Given the description of an element on the screen output the (x, y) to click on. 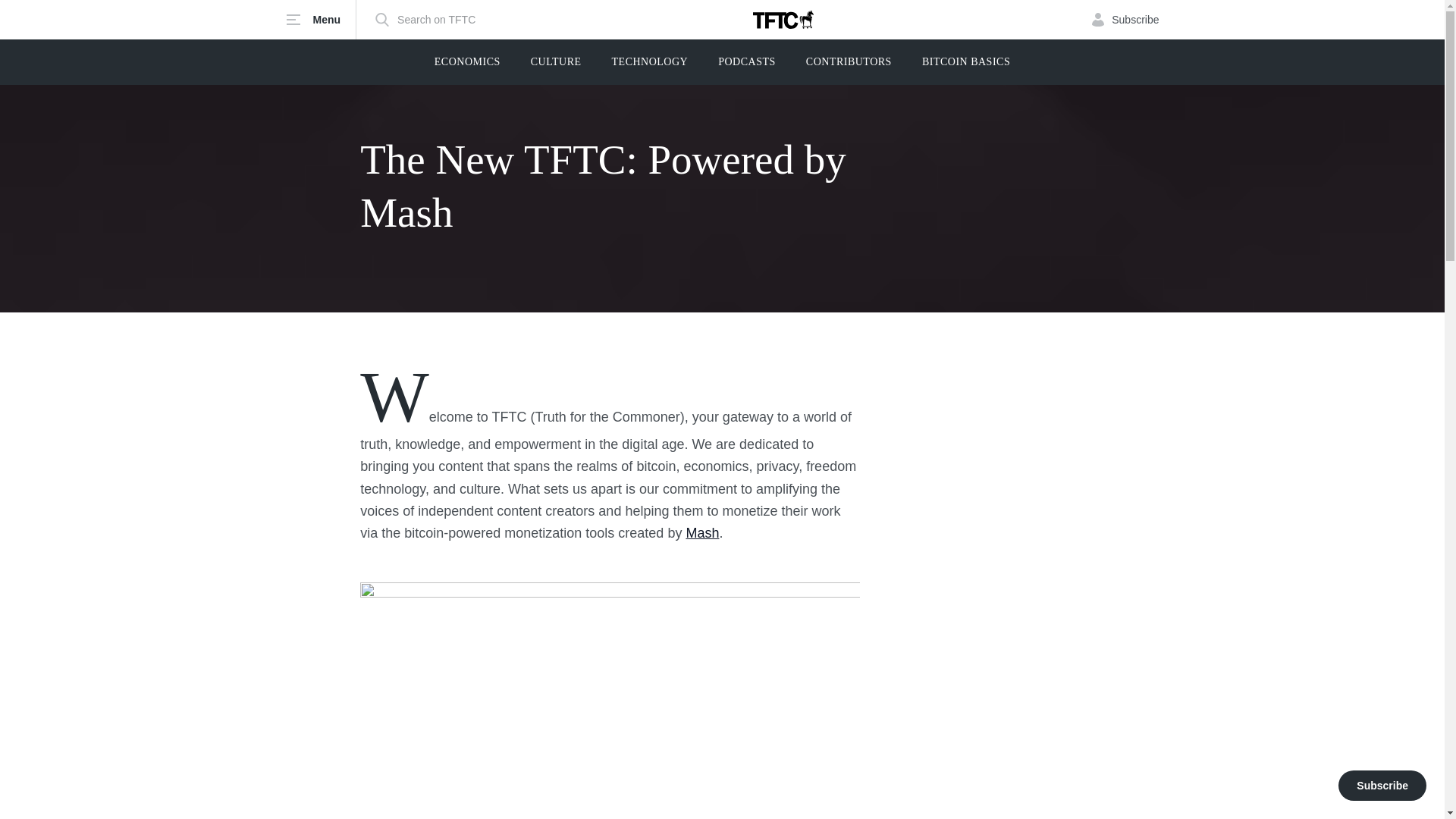
Mash (702, 532)
Subscribe (1124, 19)
ECONOMICS (466, 62)
CULTURE (555, 62)
Menu (320, 19)
PODCASTS (746, 62)
BITCOIN BASICS (965, 62)
CONTRIBUTORS (848, 62)
TECHNOLOGY (649, 62)
Search on TFTC (425, 19)
